Given the description of an element on the screen output the (x, y) to click on. 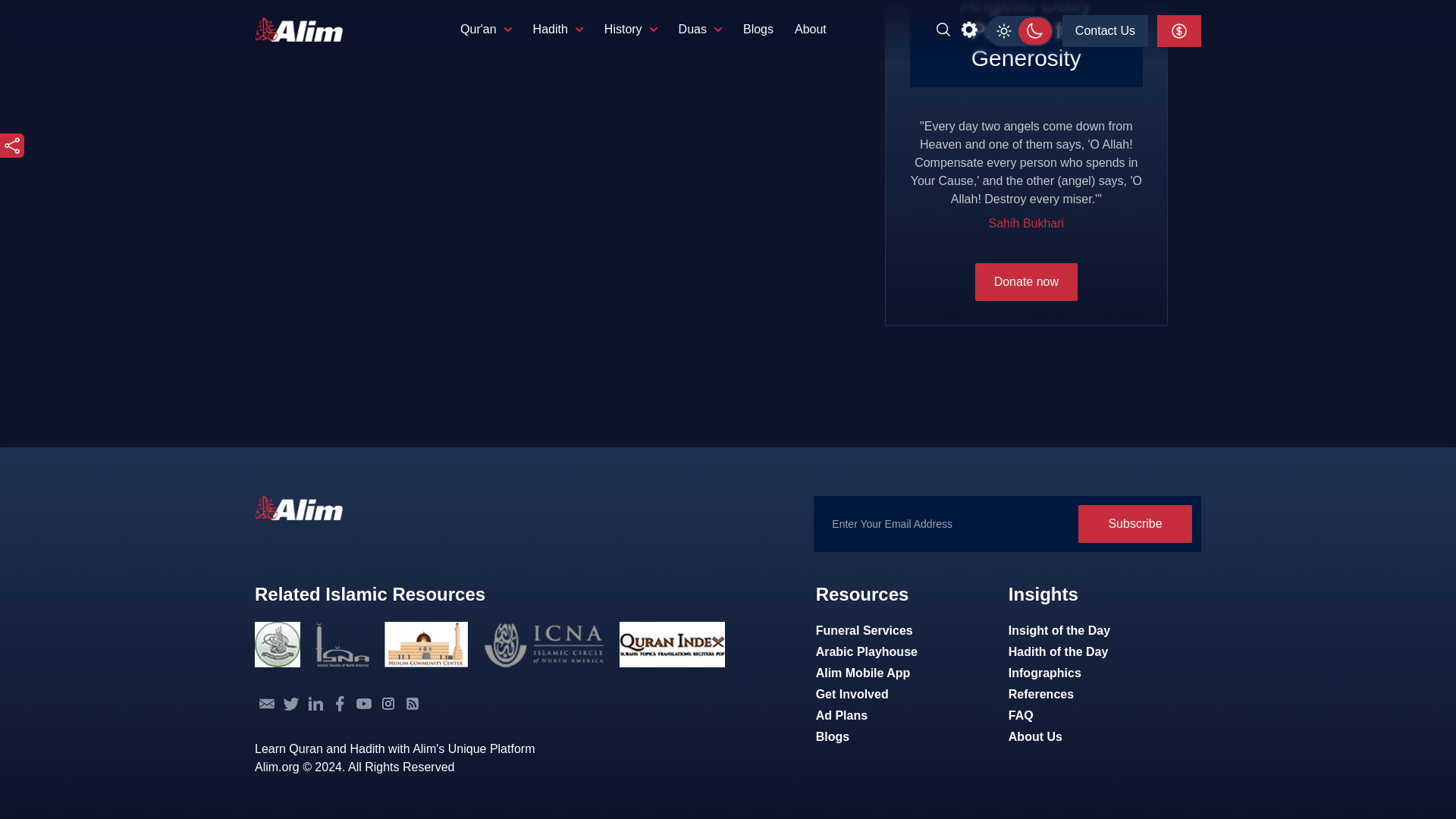
Alim.org (298, 508)
Donate now (1026, 281)
